Given the description of an element on the screen output the (x, y) to click on. 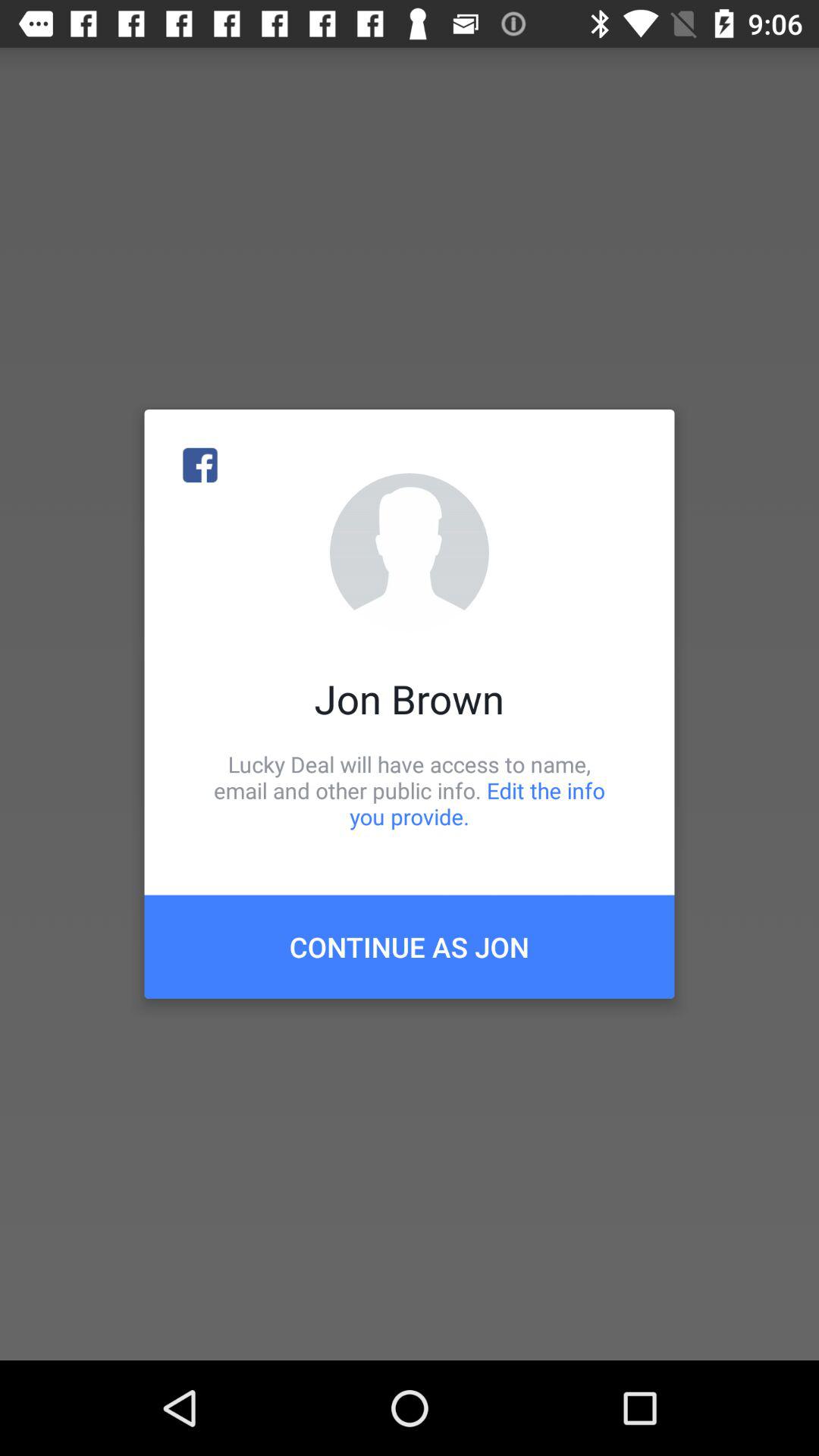
open the item above continue as jon icon (409, 790)
